Given the description of an element on the screen output the (x, y) to click on. 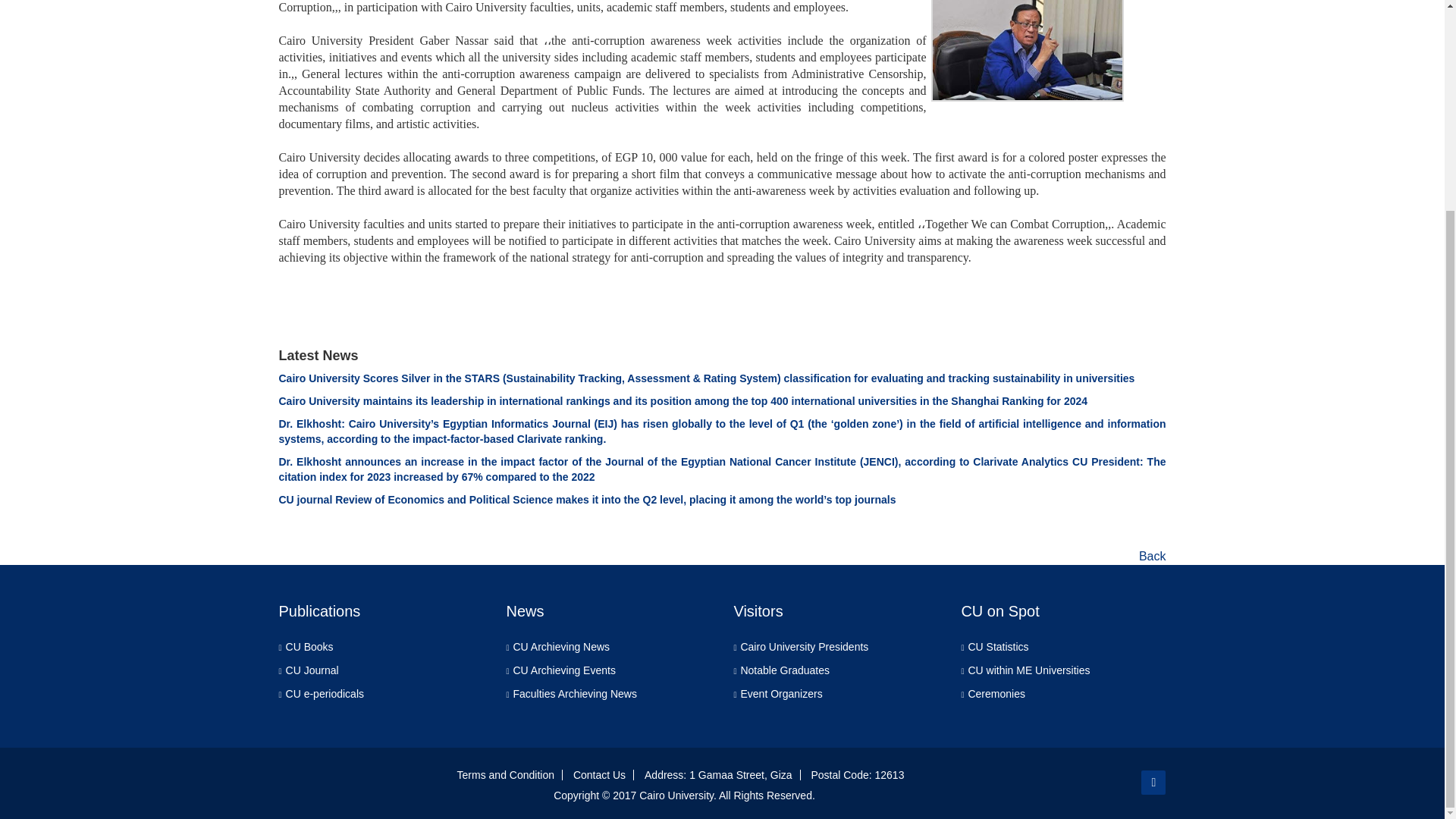
Cairo University Presidents (805, 646)
CU Books (311, 646)
CU Journal (313, 670)
CU Archieving News (562, 646)
CU Archieving Events (565, 670)
CU e-periodicals (326, 693)
Faculties Archieving News (576, 693)
